Given the description of an element on the screen output the (x, y) to click on. 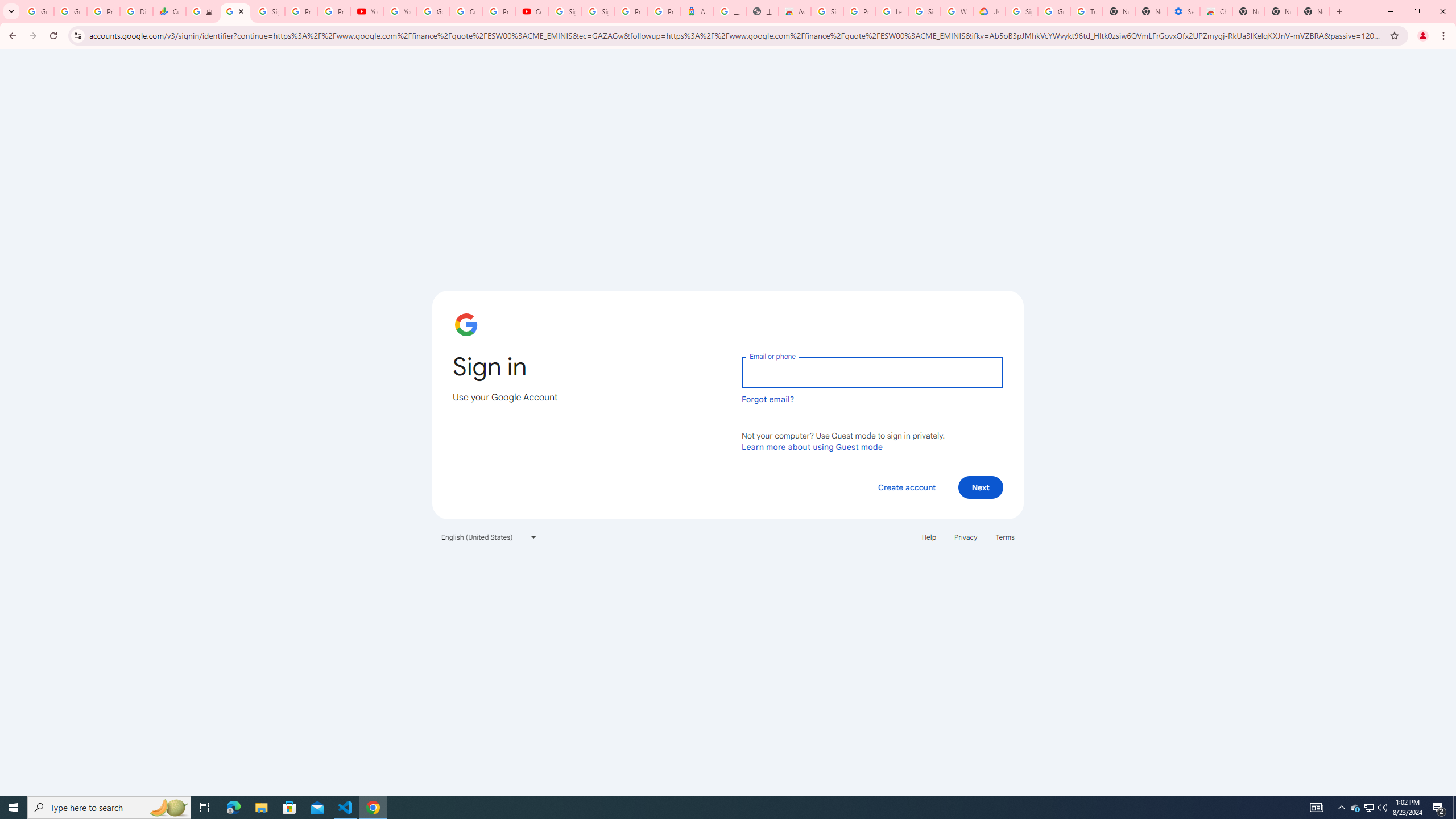
Privacy Checkup (334, 11)
YouTube (367, 11)
Email or phone (871, 372)
Create account (905, 486)
Currencies - Google Finance (169, 11)
Who are Google's partners? - Privacy and conditions - Google (957, 11)
Awesome Screen Recorder & Screenshot - Chrome Web Store (794, 11)
Next (980, 486)
English (United States) (489, 536)
